Given the description of an element on the screen output the (x, y) to click on. 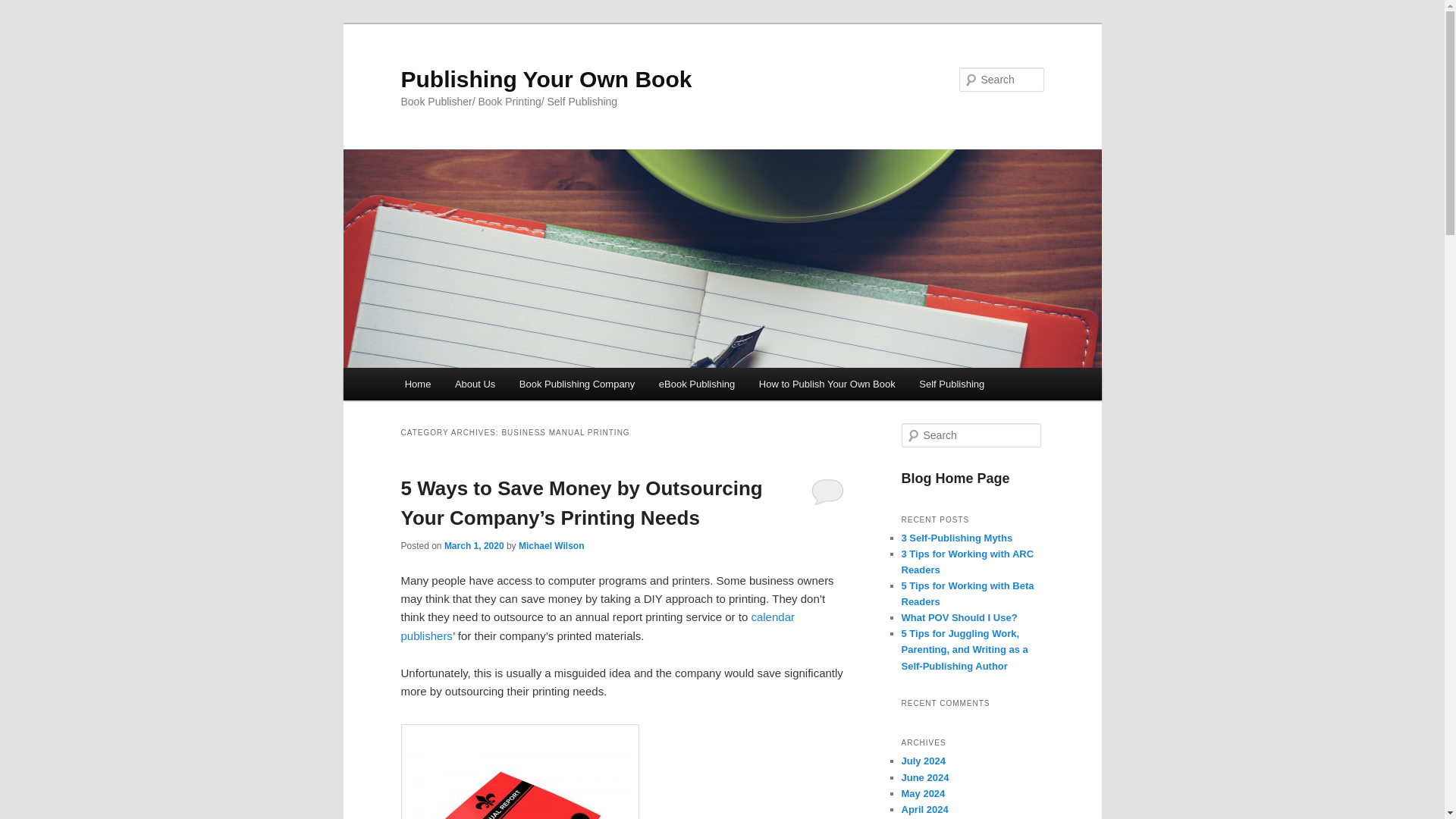
Publishing Your Own Book (545, 78)
calendar publishers (597, 625)
Book Publishing Company (576, 383)
View all posts by Michael Wilson (551, 545)
About Us (474, 383)
March 1, 2020 (473, 545)
3 Tips for Working with ARC Readers (967, 561)
June 2024 (925, 777)
Home (417, 383)
What POV Should I Use? (958, 617)
Search (21, 11)
Blog Home Page (955, 478)
5:07 am (473, 545)
5 Tips for Working with Beta Readers (967, 593)
